Given the description of an element on the screen output the (x, y) to click on. 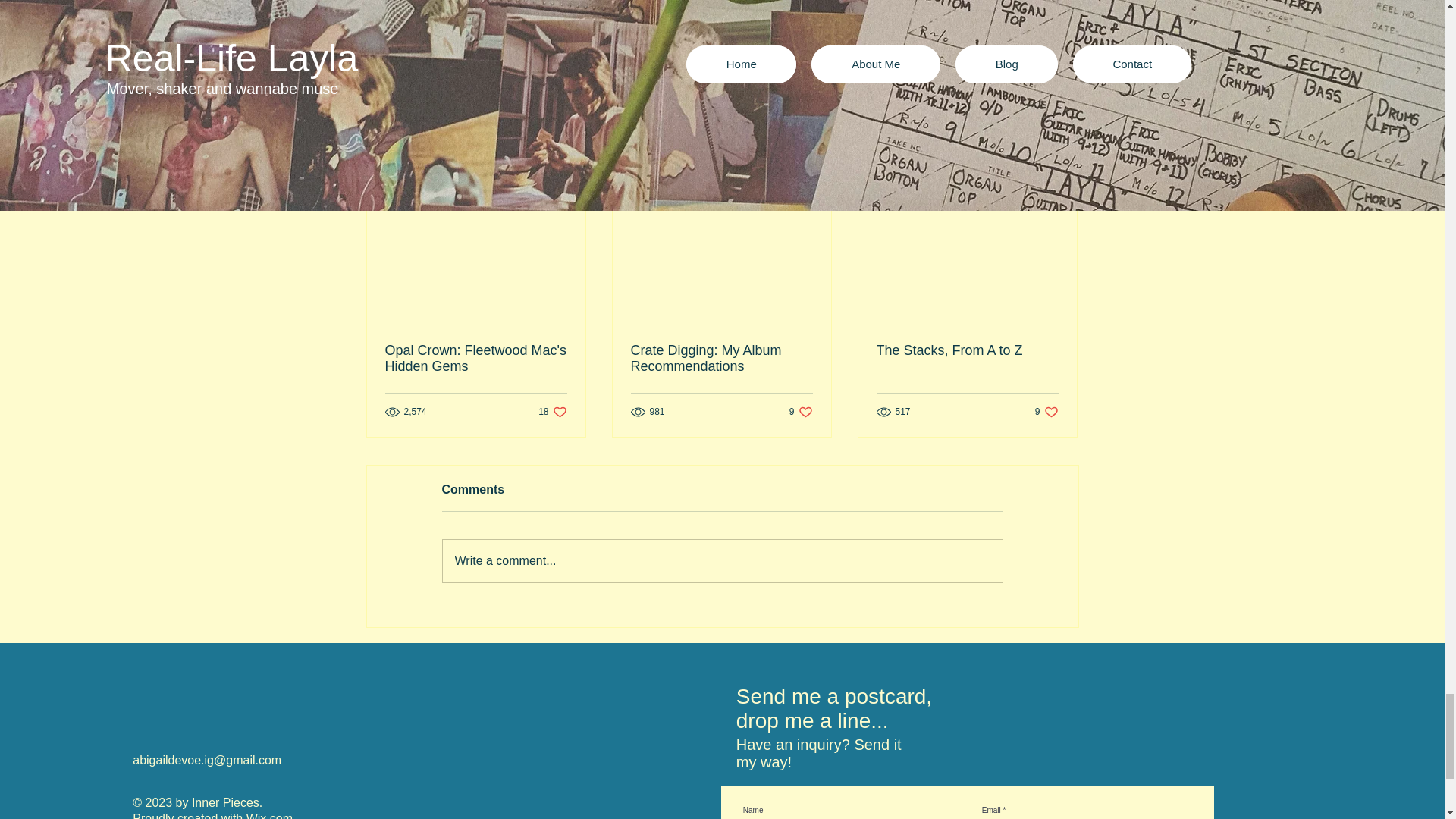
Crate Digging: My Album Recommendations (721, 358)
See All (1061, 174)
vintage fashion (552, 411)
ootd (693, 0)
The Stacks, From A to Z (990, 92)
60s (994, 46)
60s fashion (967, 350)
70s (722, 560)
